Given the description of an element on the screen output the (x, y) to click on. 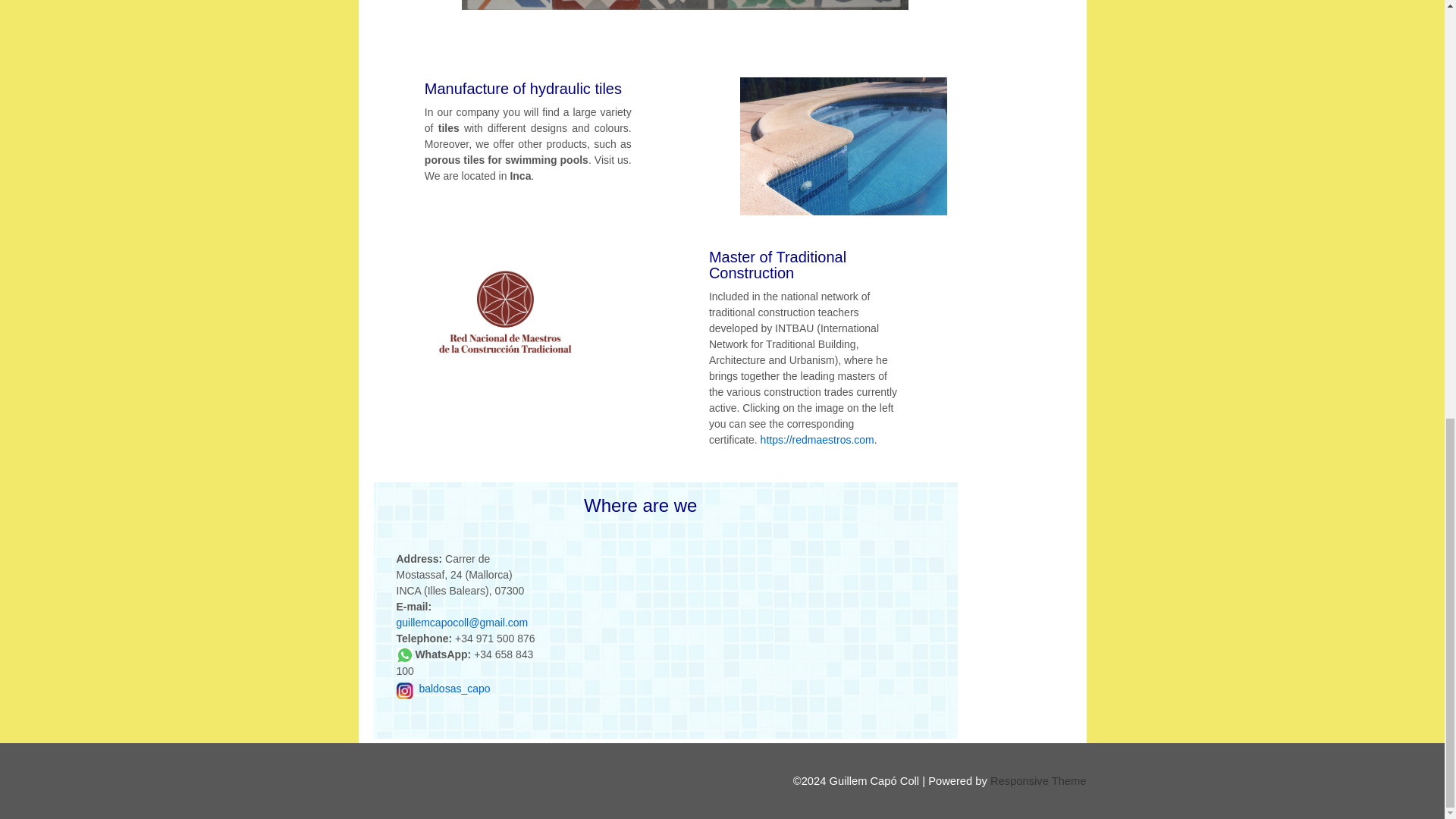
Responsive Theme (1038, 780)
Click to see certificate (505, 313)
 Responsive Theme  (1038, 780)
